Given the description of an element on the screen output the (x, y) to click on. 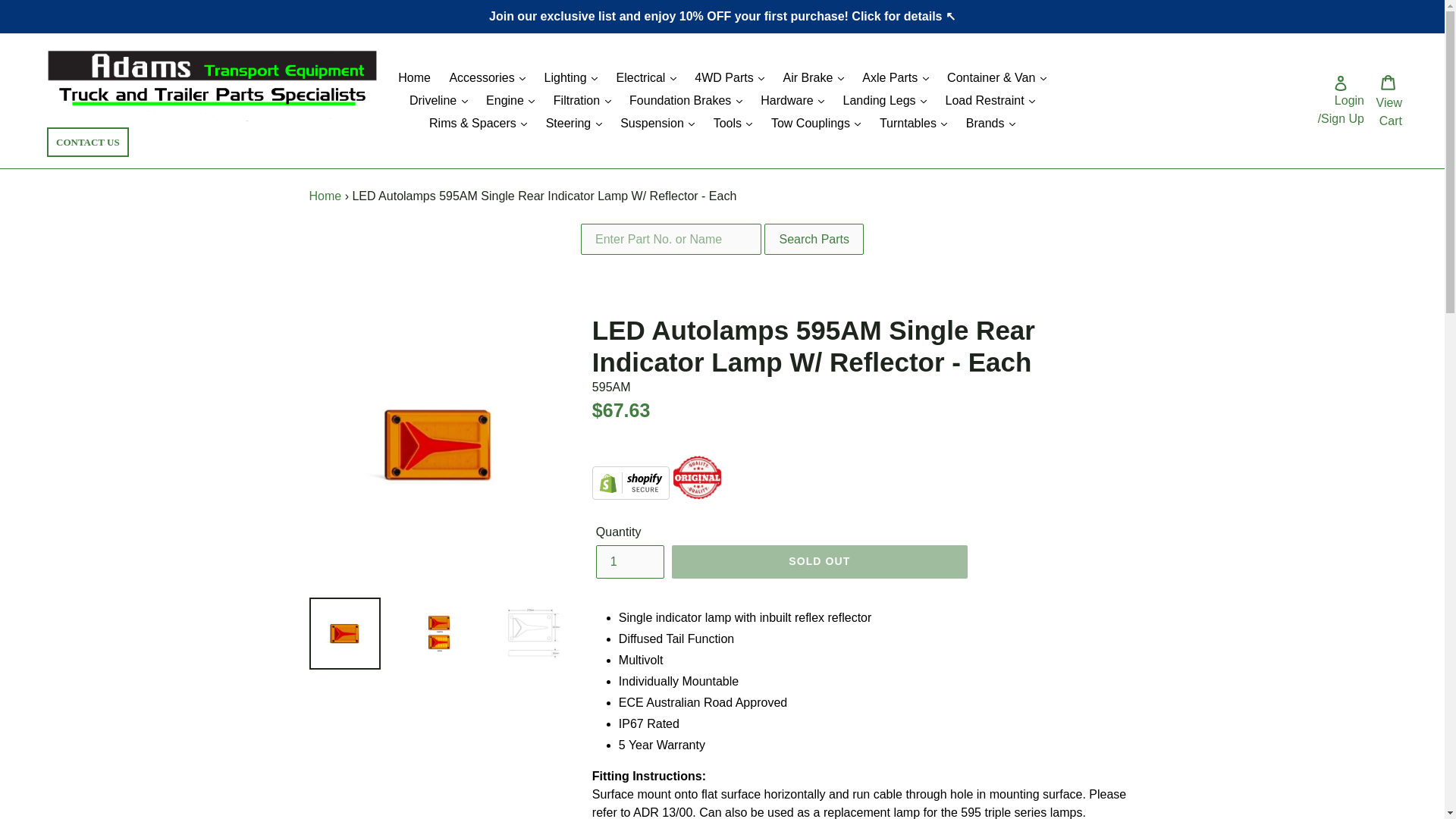
Home (325, 195)
Home (414, 77)
CONTACT US (87, 142)
Search Parts (813, 238)
1 (629, 561)
This online store is secured by Shopify (630, 495)
